Given the description of an element on the screen output the (x, y) to click on. 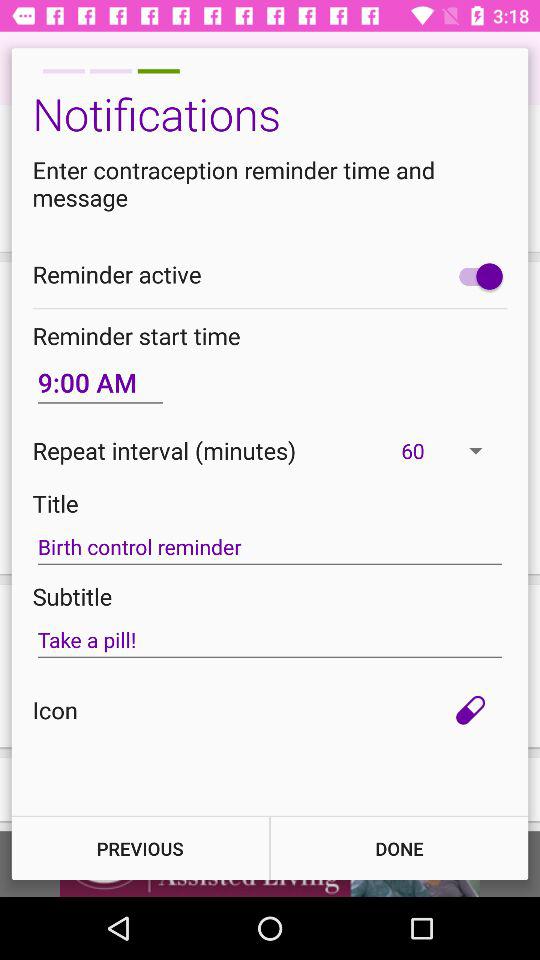
turn on the icon below subtitle icon (269, 640)
